Given the description of an element on the screen output the (x, y) to click on. 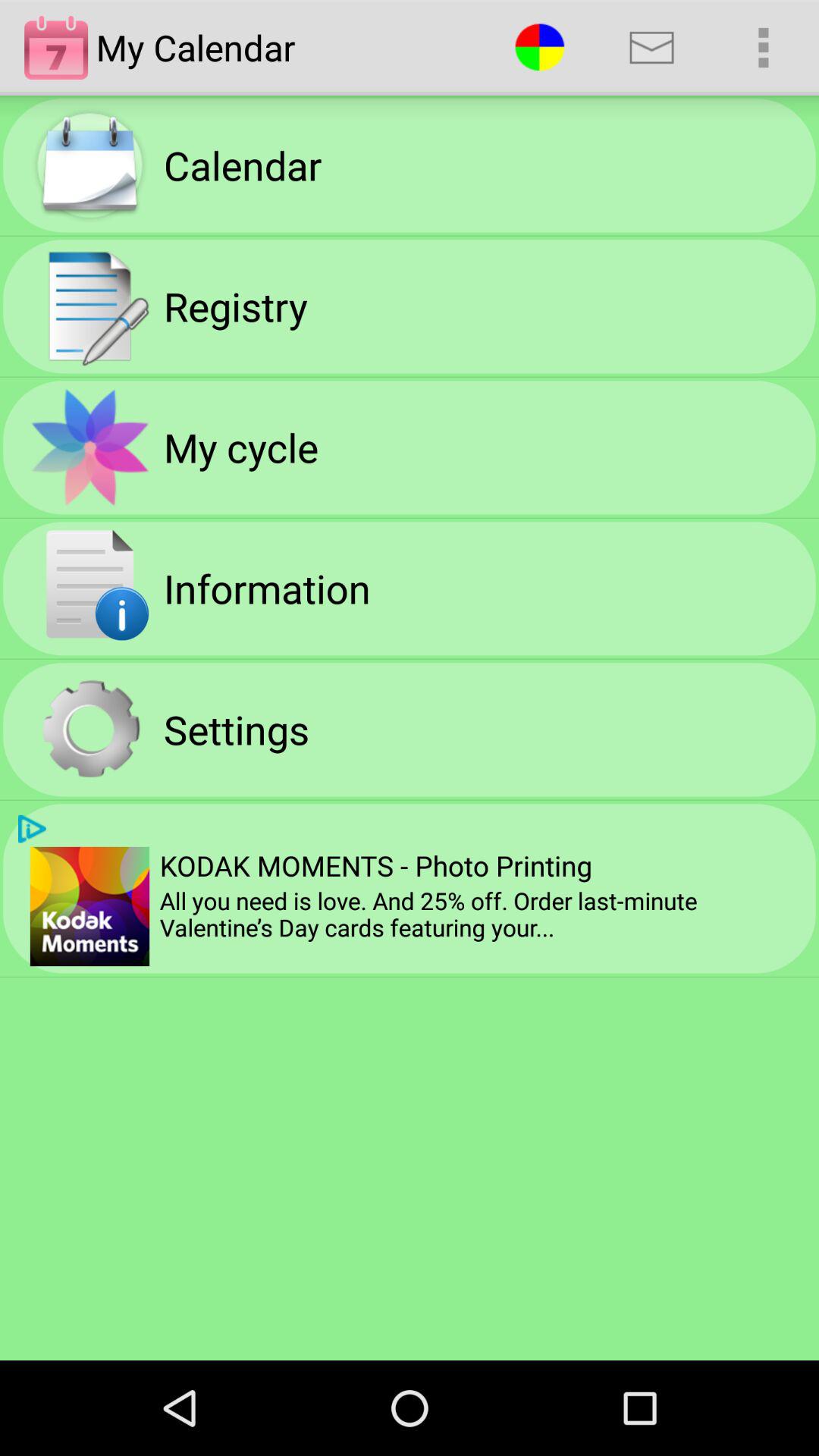
choose item at the top (540, 47)
